Given the description of an element on the screen output the (x, y) to click on. 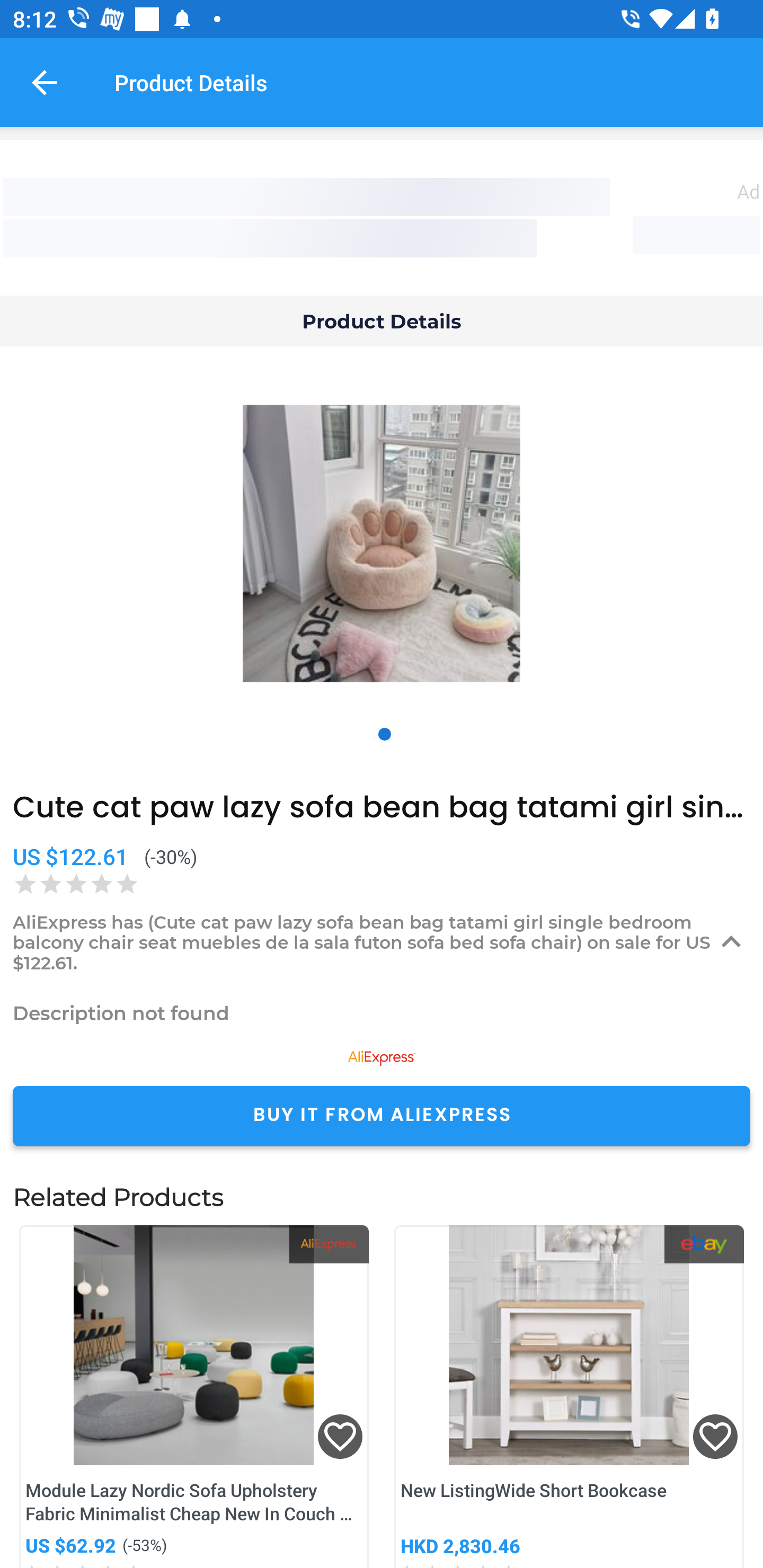
Navigate up (44, 82)
Description not found (381, 1012)
BUY IT FROM ALIEXPRESS (381, 1115)
New ListingWide Short Bookcase HKD 2,830.46 0.0 (568, 1396)
